Given the description of an element on the screen output the (x, y) to click on. 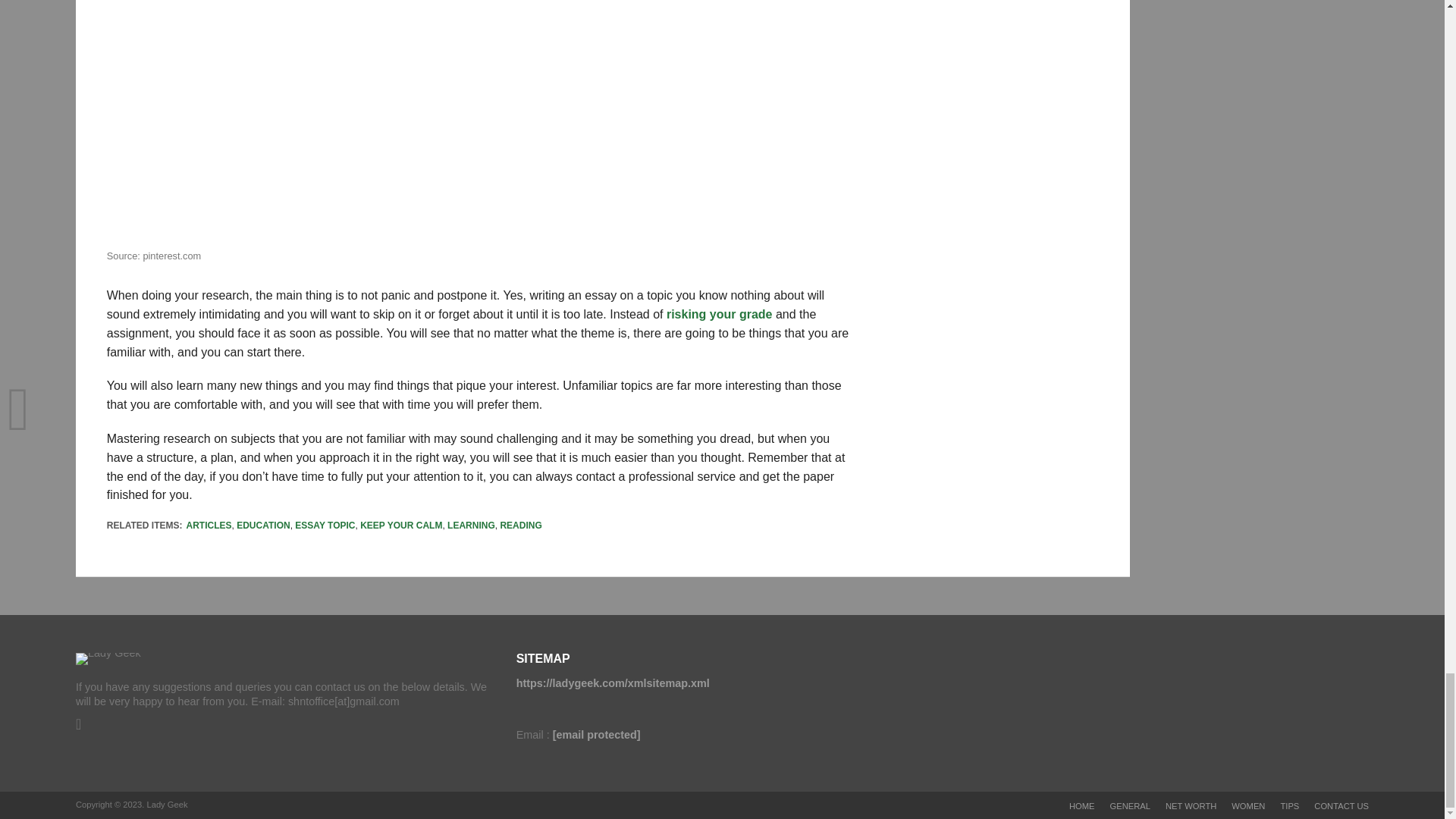
LEARNING (470, 525)
ESSAY TOPIC (325, 525)
risking your grade (719, 314)
KEEP YOUR CALM (400, 525)
WOMEN (1248, 805)
HOME (1081, 805)
EDUCATION (262, 525)
ARTICLES (208, 525)
NET WORTH (1190, 805)
READING (520, 525)
GENERAL (1129, 805)
